Given the description of an element on the screen output the (x, y) to click on. 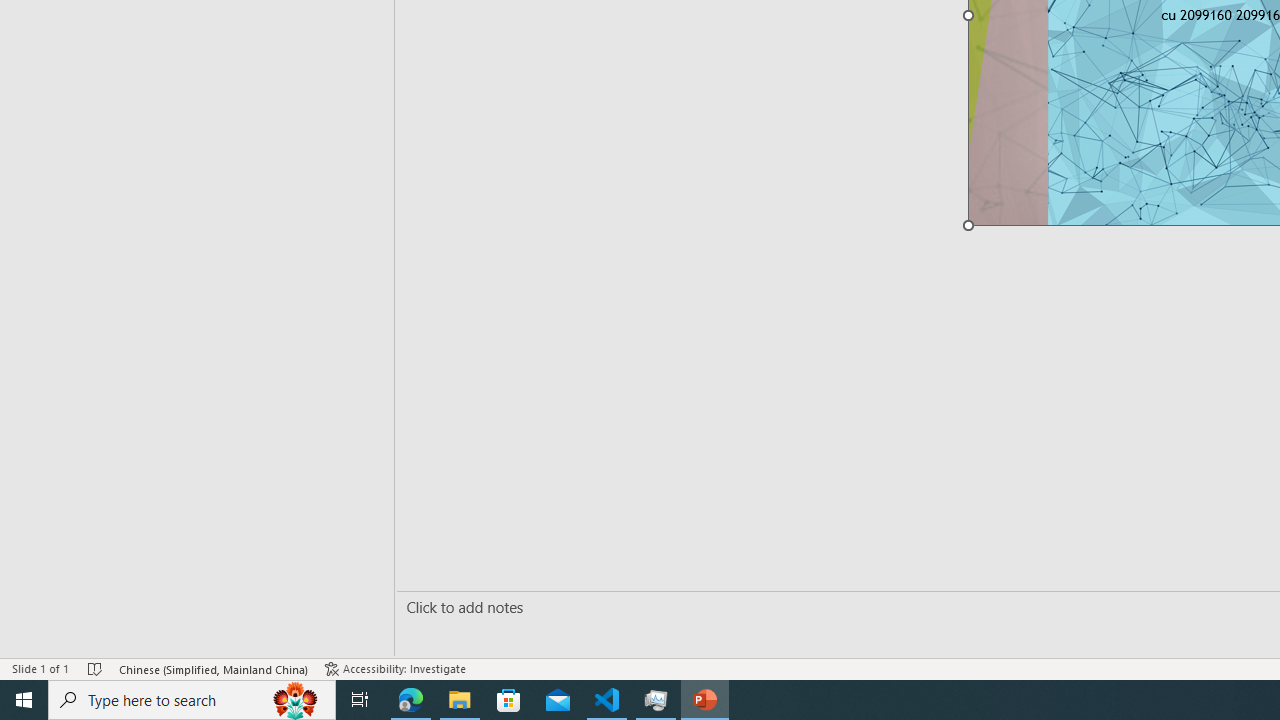
Task Manager - 1 running window (656, 699)
File Explorer - 1 running window (460, 699)
